Given the description of an element on the screen output the (x, y) to click on. 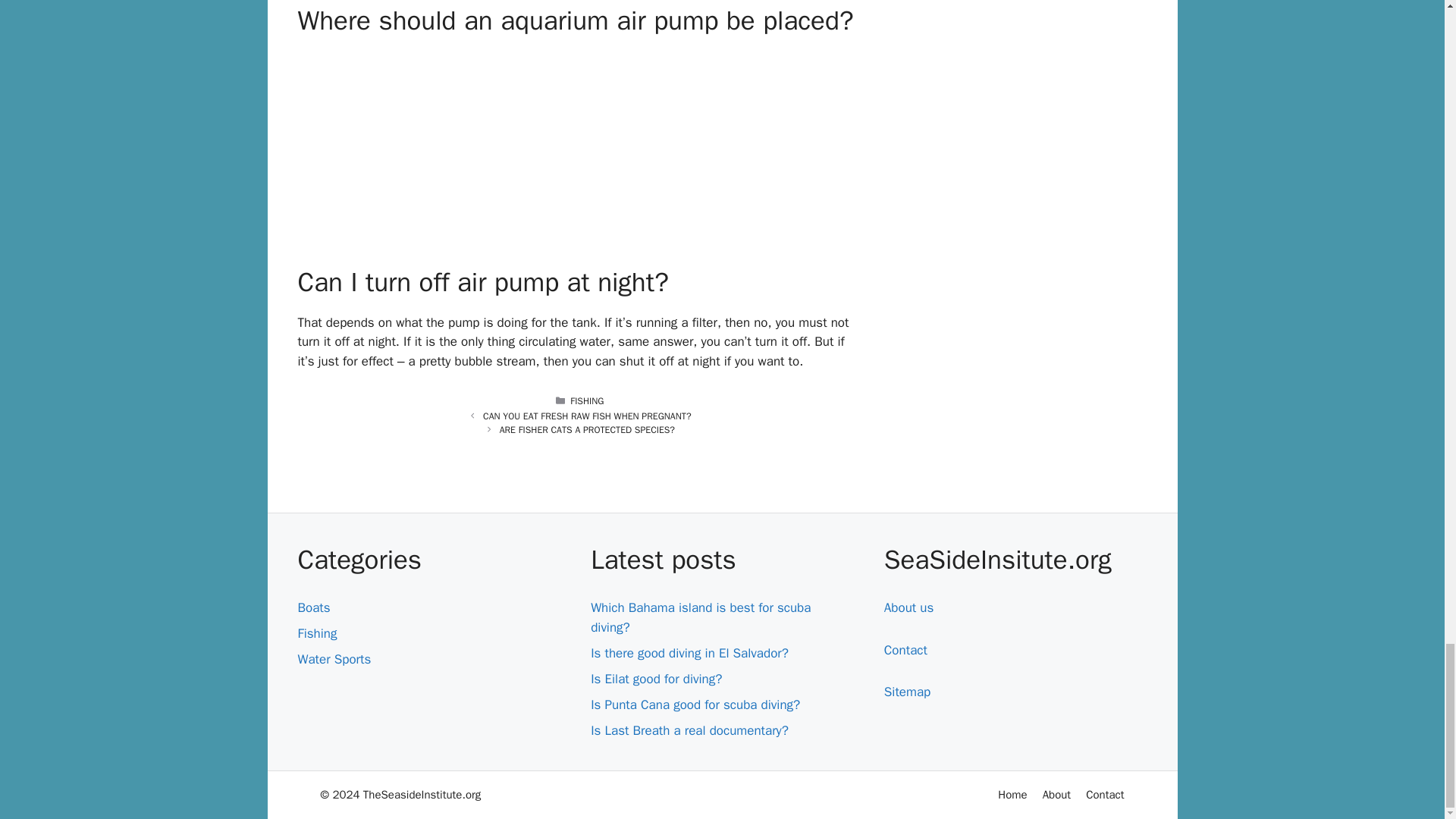
Where should an aquarium air pump be placed? (579, 145)
FISHING (587, 400)
Boats (313, 607)
Fishing (316, 633)
Is Eilat good for diving? (656, 678)
CAN YOU EAT FRESH RAW FISH WHEN PREGNANT? (586, 416)
Is there good diving in El Salvador? (690, 652)
ARE FISHER CATS A PROTECTED SPECIES? (587, 429)
Which Bahama island is best for scuba diving? (700, 617)
Water Sports (334, 659)
